Given the description of an element on the screen output the (x, y) to click on. 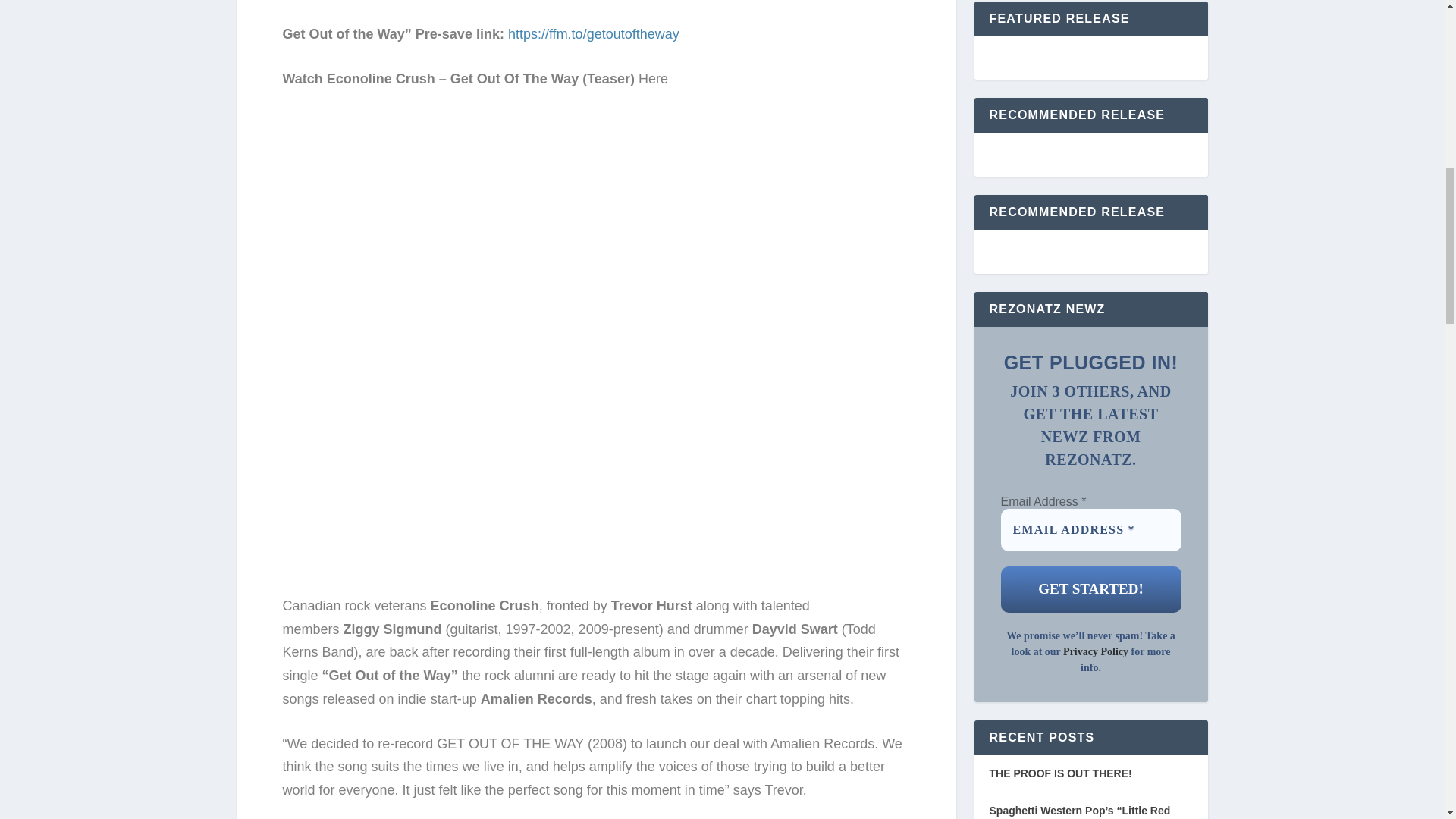
Get Started! (1090, 589)
